Given the description of an element on the screen output the (x, y) to click on. 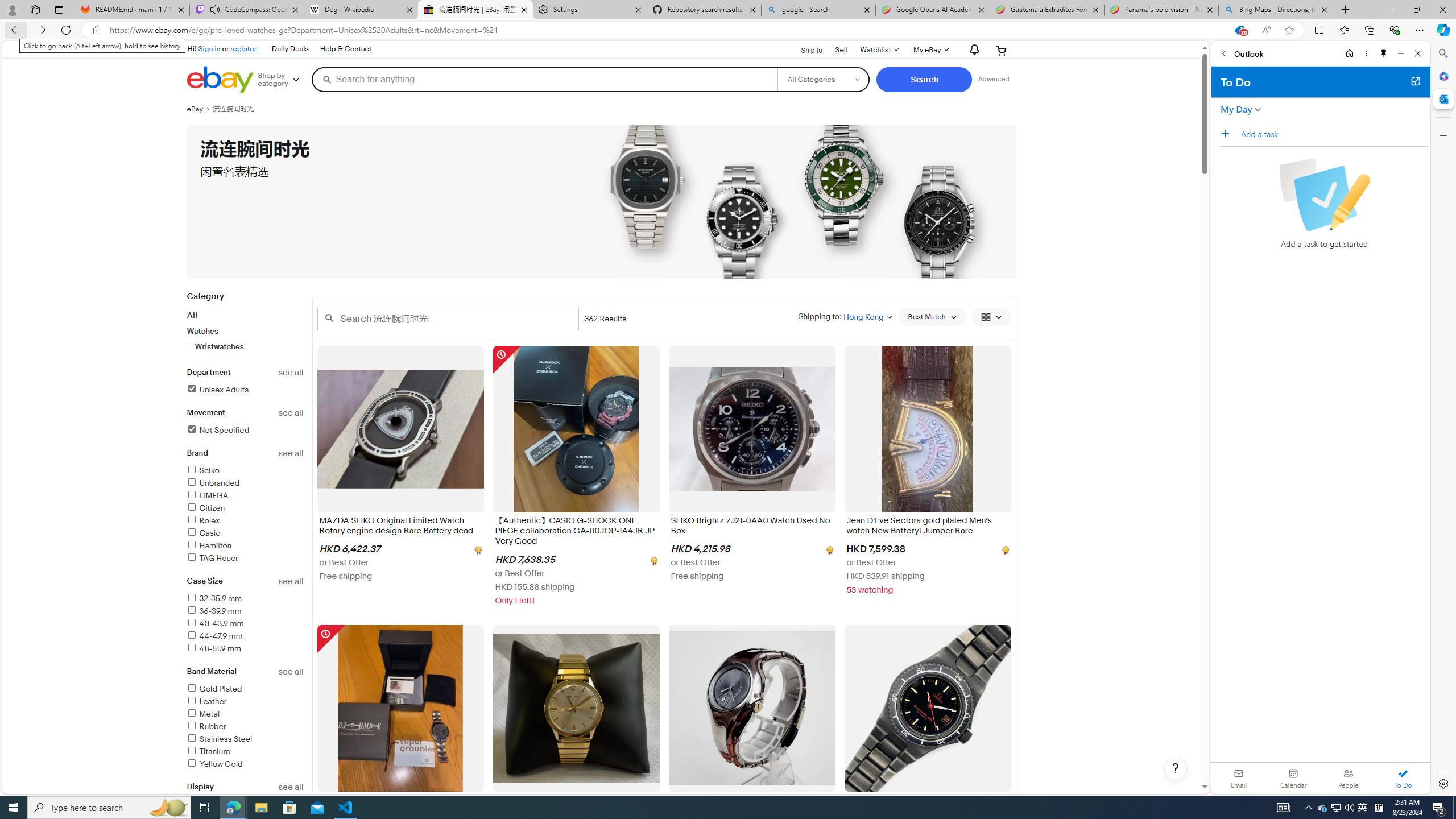
48-51.9 mm (213, 648)
Casio (203, 533)
Not Specified Filter Applied (217, 429)
WatchlistExpand Watch List (878, 49)
Select a category for search (823, 78)
eBay (199, 108)
Rubber (245, 726)
Wristwatches (249, 346)
Checkbox with a pencil (1324, 194)
Seiko (202, 470)
